Given the description of an element on the screen output the (x, y) to click on. 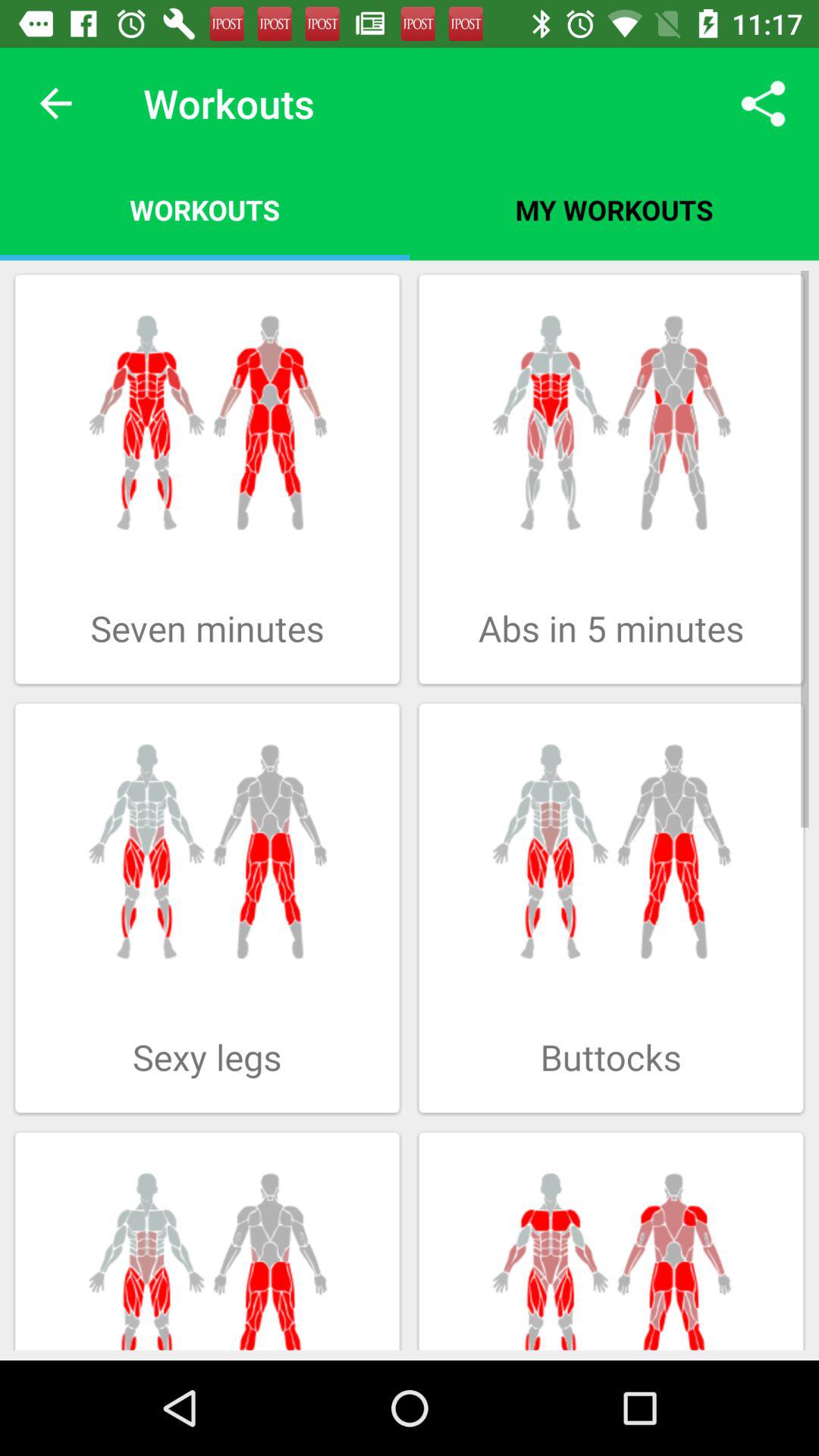
press icon next to the workouts (614, 209)
